Given the description of an element on the screen output the (x, y) to click on. 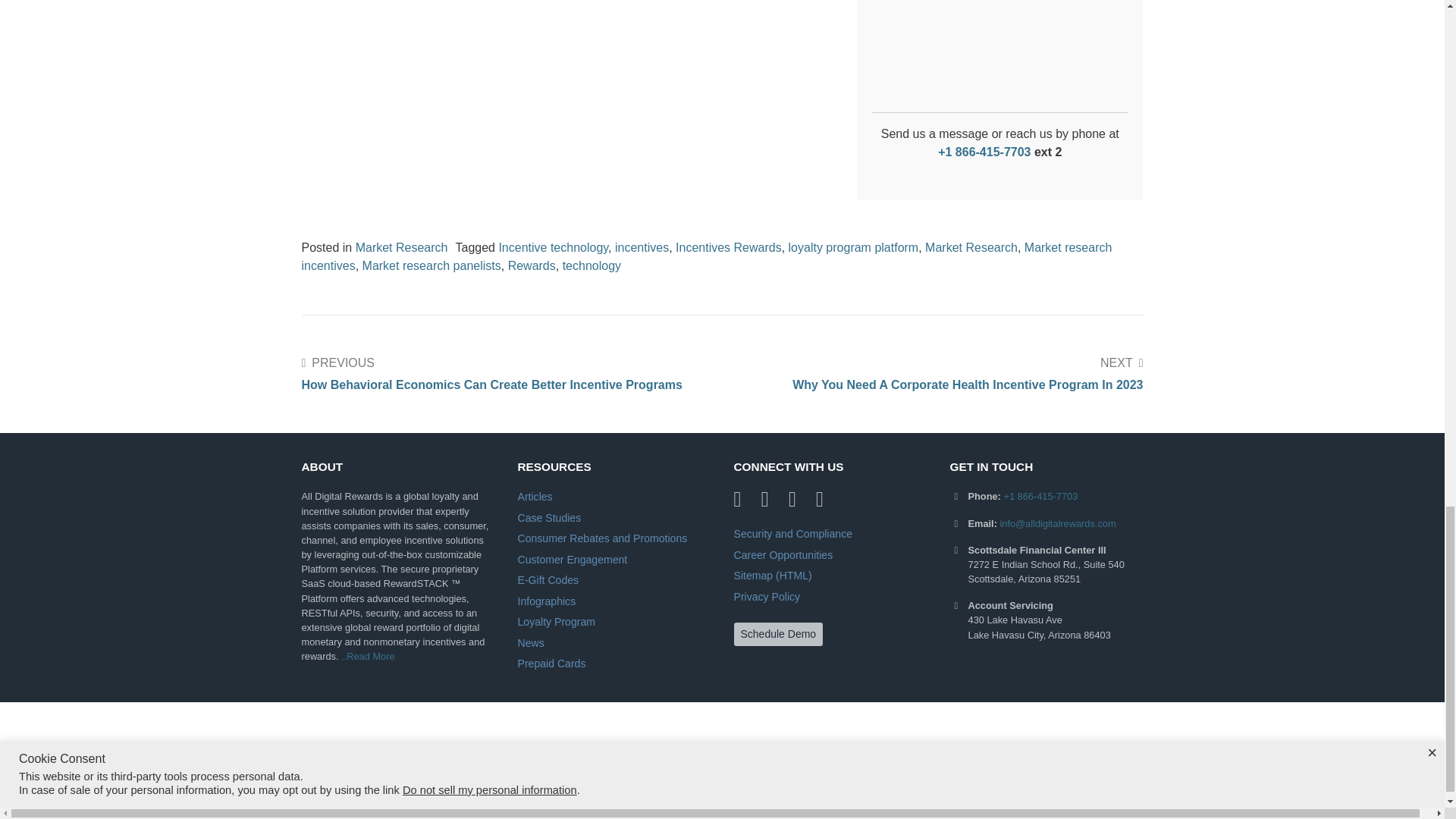
Customer Engagement (571, 559)
Loyalty Program (555, 621)
News (529, 643)
Case Studies (548, 517)
Articles (533, 496)
Infographics (545, 601)
Prepaid Cards (550, 663)
Consumer Rebates and Promotions (601, 538)
E-Gift Codes (547, 580)
